Given the description of an element on the screen output the (x, y) to click on. 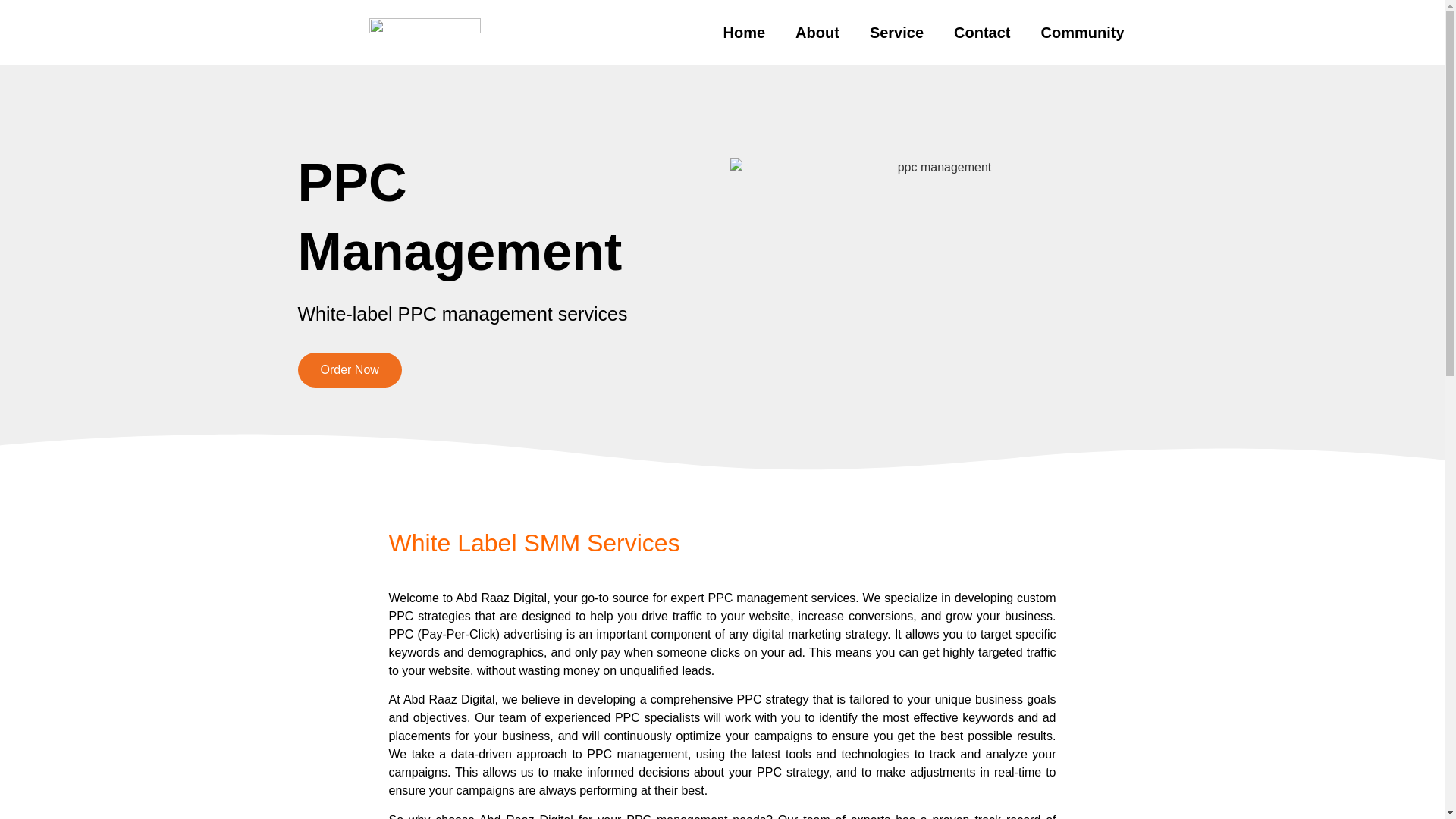
Home (743, 32)
Service (896, 32)
Contact (982, 32)
Community (1081, 32)
Order Now (349, 369)
About (817, 32)
